Given the description of an element on the screen output the (x, y) to click on. 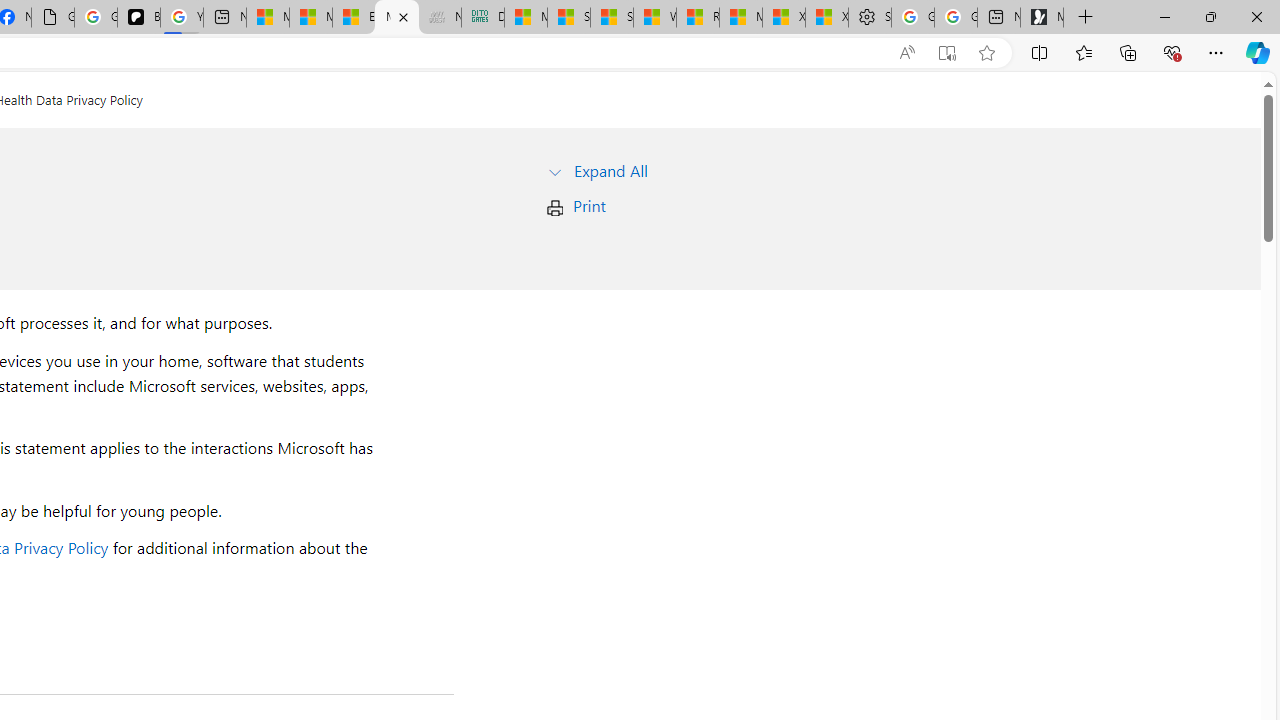
Be Smart | creating Science videos | Patreon (138, 17)
